Given the description of an element on the screen output the (x, y) to click on. 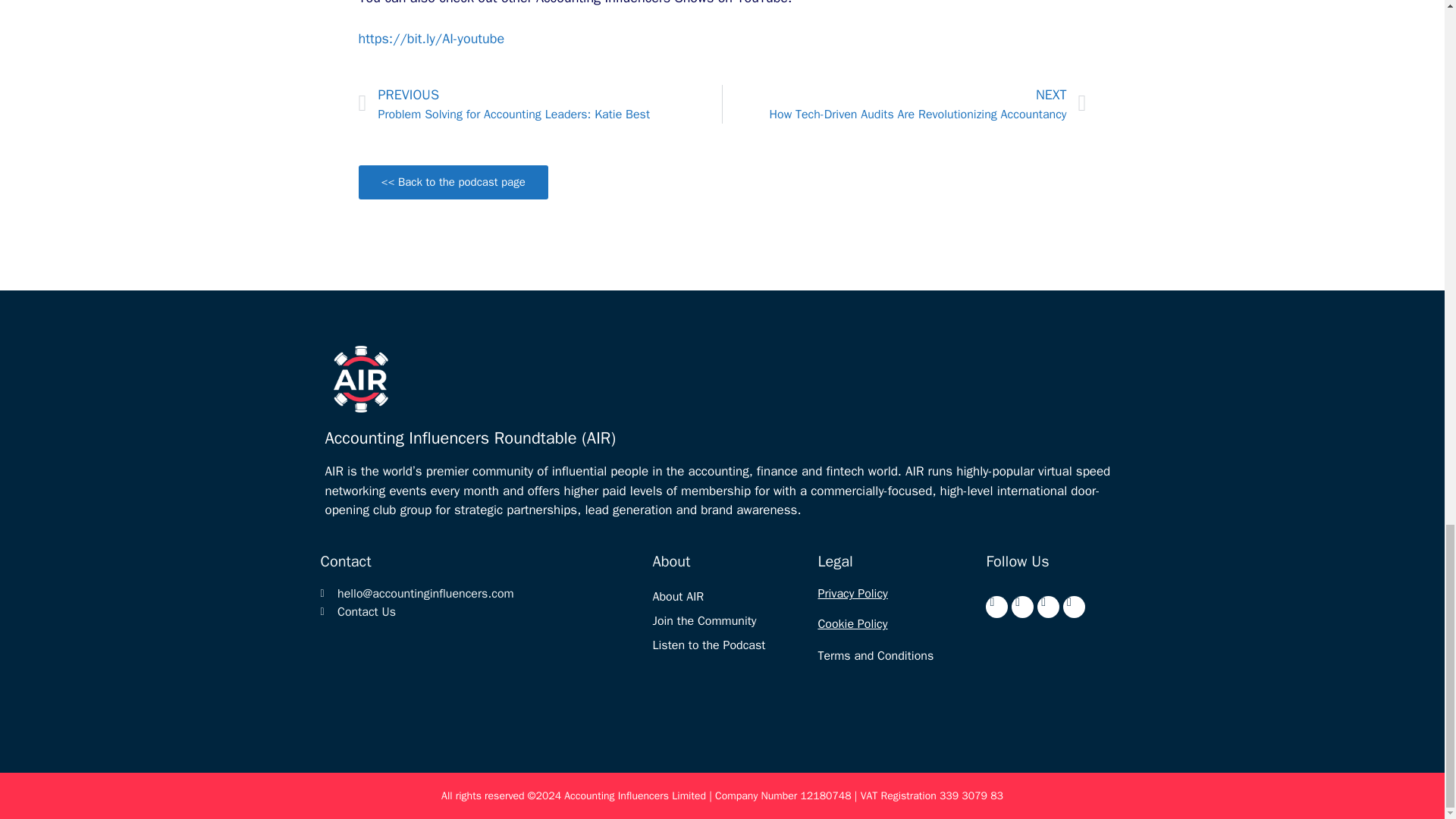
Join the Community (540, 104)
About AIR (703, 620)
Privacy Policy (677, 596)
Cookie Policy (851, 593)
Contact Us (851, 623)
Listen to the Podcast (478, 611)
Terms and Conditions (904, 104)
